Given the description of an element on the screen output the (x, y) to click on. 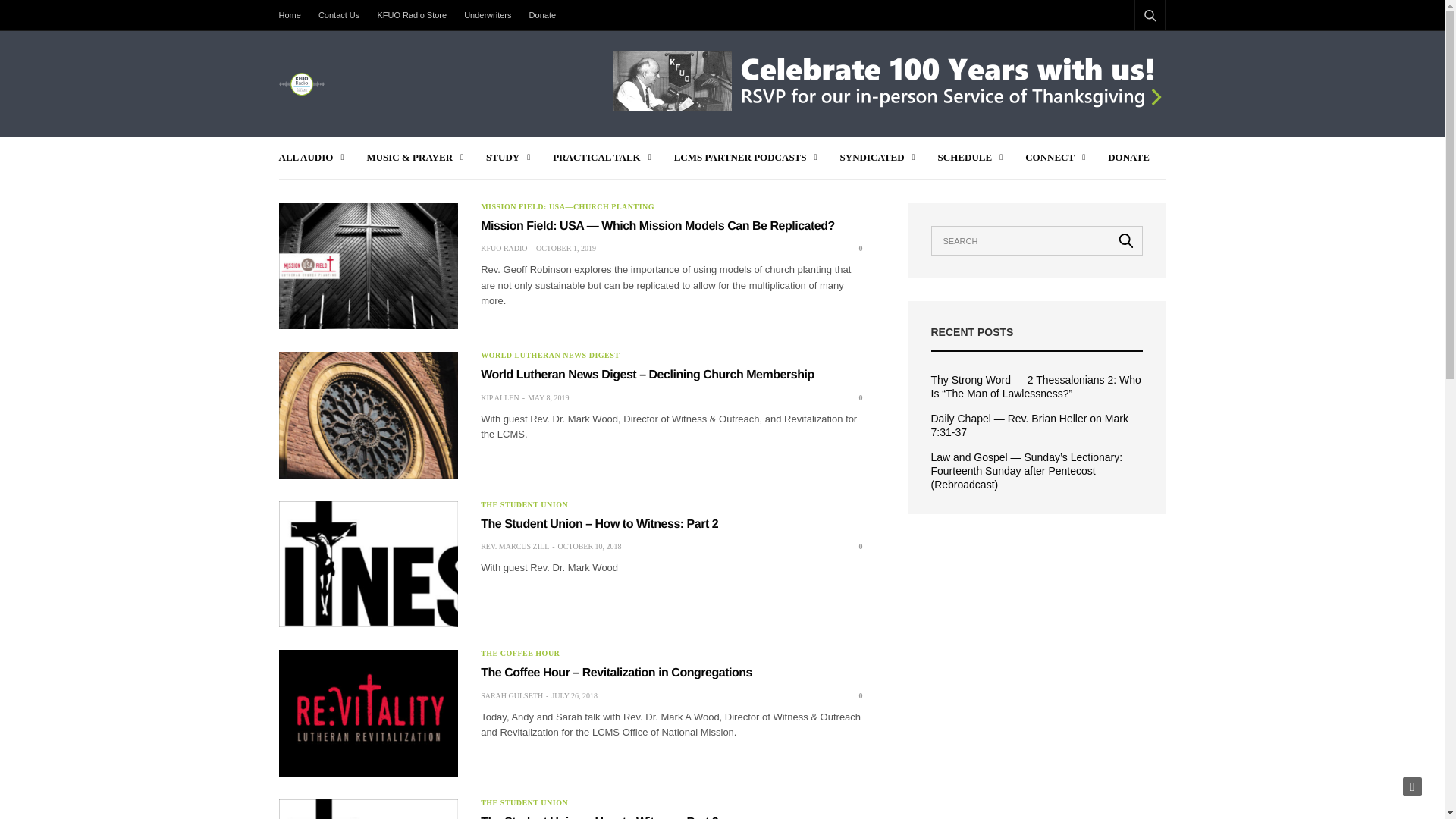
Underwriters (487, 15)
Posts by KFUO Radio (503, 248)
Search (1129, 51)
World Lutheran News Digest (550, 355)
Donate (542, 15)
Posts by Rev. Marcus Zill (514, 546)
The Student Union (523, 504)
ALL AUDIO (311, 157)
KFUO Radio Store (411, 15)
Home (293, 15)
